Given the description of an element on the screen output the (x, y) to click on. 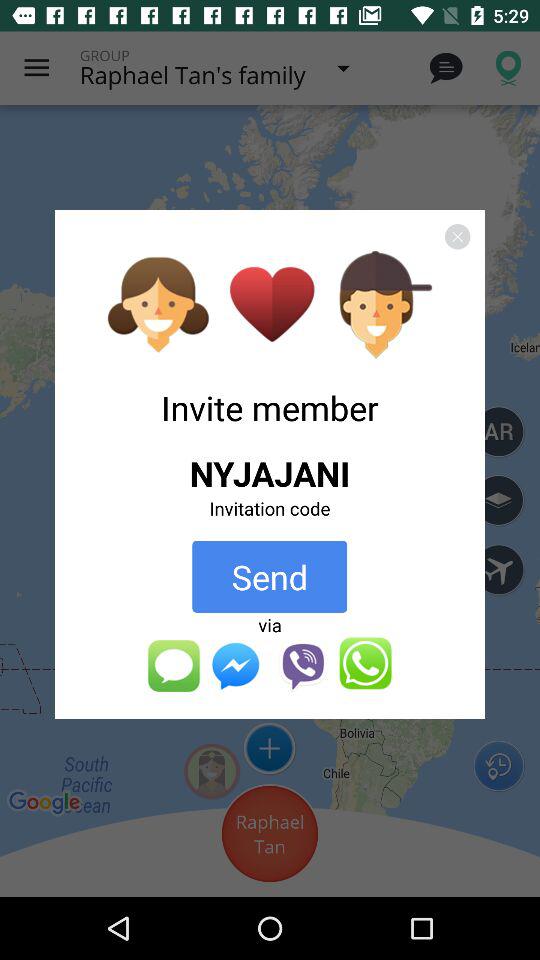
tap app above the via app (269, 576)
